Given the description of an element on the screen output the (x, y) to click on. 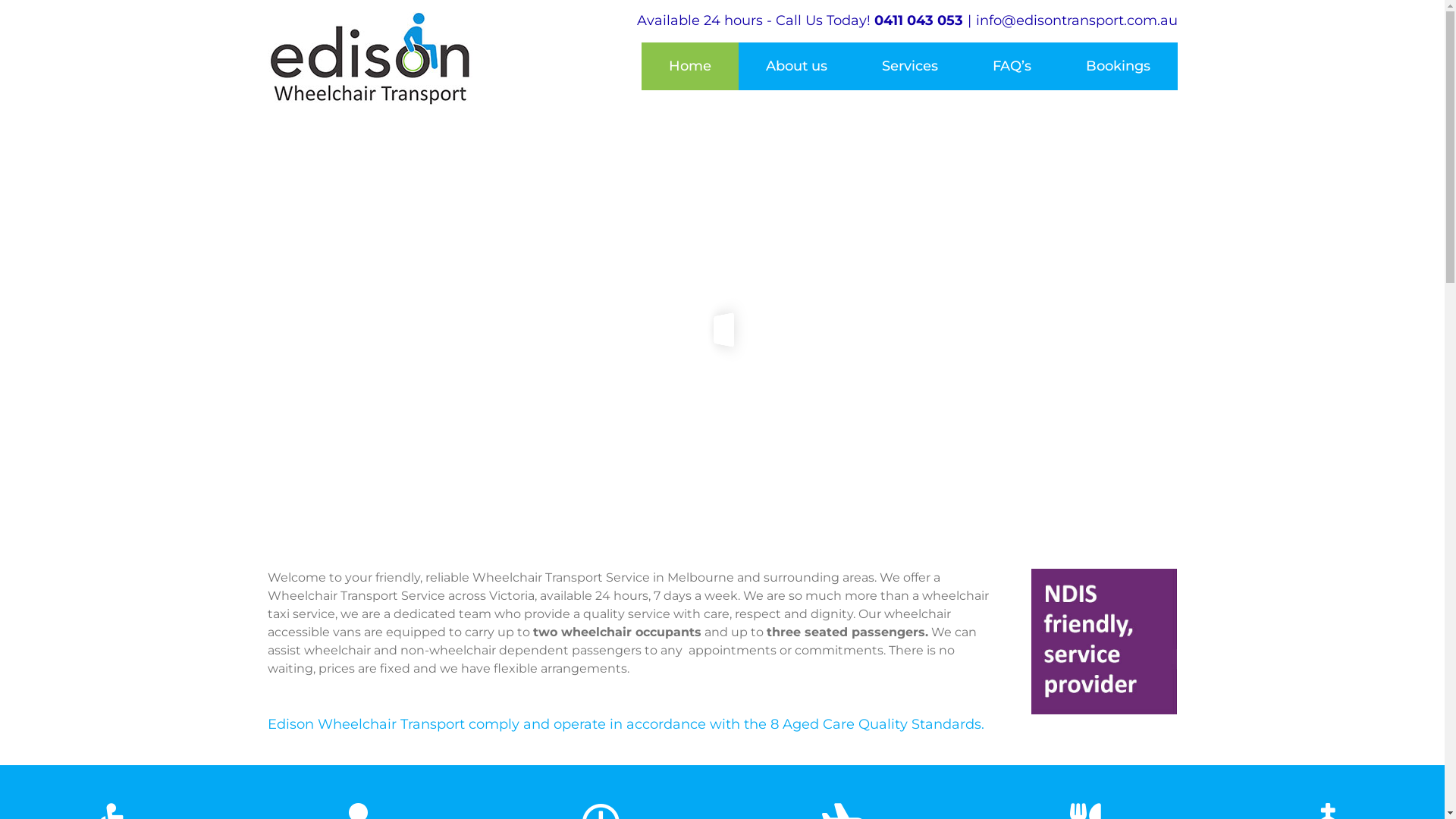
Services Element type: text (908, 66)
NDIS-Friendy-Service-Provider Element type: hover (1103, 641)
About us Element type: text (796, 66)
info@edisontransport.com.au Element type: text (1075, 20)
Home Element type: text (689, 66)
Bookings Element type: text (1117, 66)
